Given the description of an element on the screen output the (x, y) to click on. 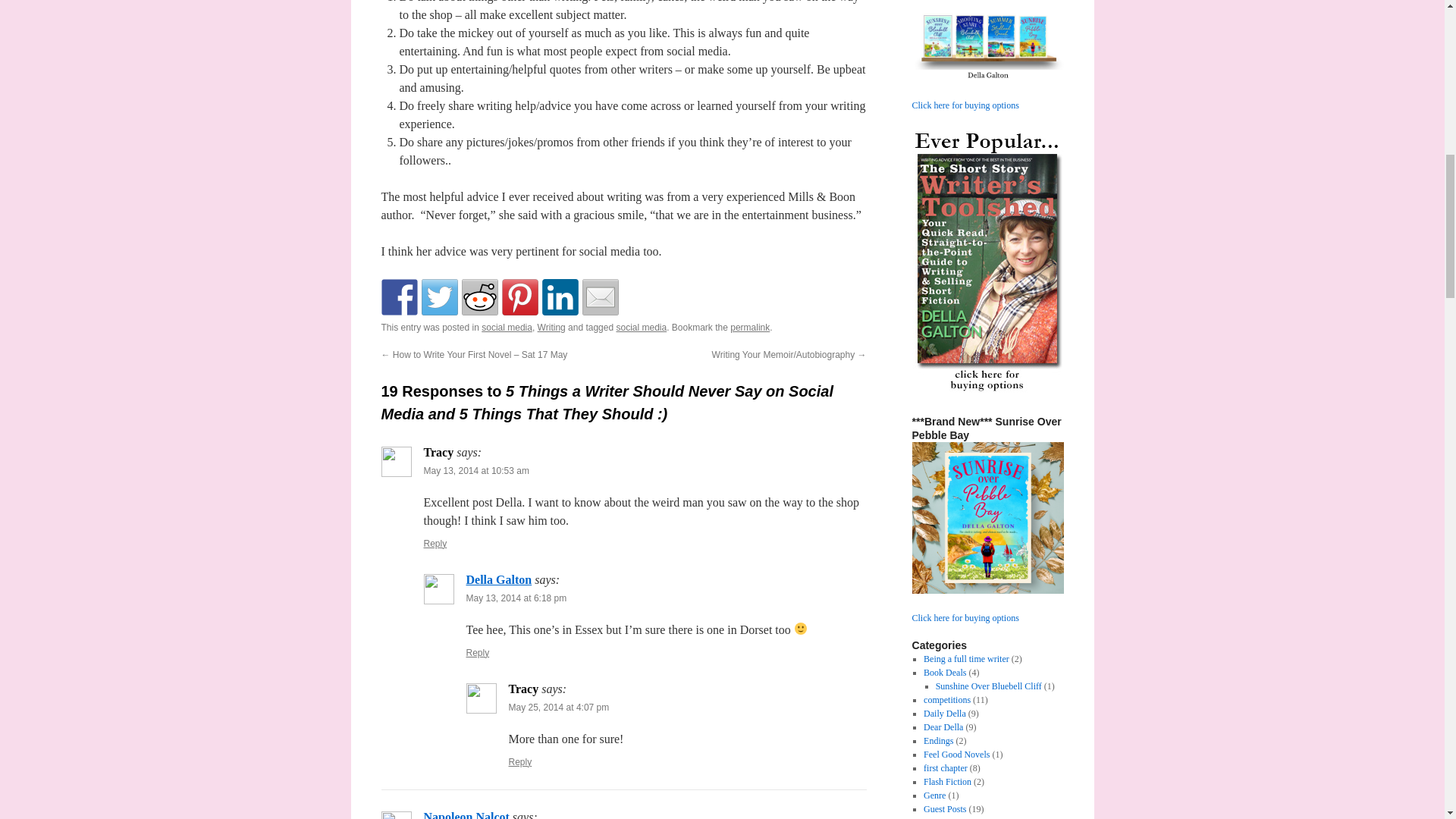
Writing (551, 327)
Della Galton (498, 579)
Share on Facebook (398, 297)
Reply (519, 761)
Share by email (600, 297)
Napoleon Nalcot (465, 814)
social media (506, 327)
May 25, 2014 at 4:07 pm (558, 706)
Reply (434, 543)
Reply (477, 652)
Pin it with Pinterest (520, 297)
Share on Twitter (440, 297)
May 13, 2014 at 6:18 pm (515, 597)
May 13, 2014 at 10:53 am (475, 470)
Share on Reddit (479, 297)
